Given the description of an element on the screen output the (x, y) to click on. 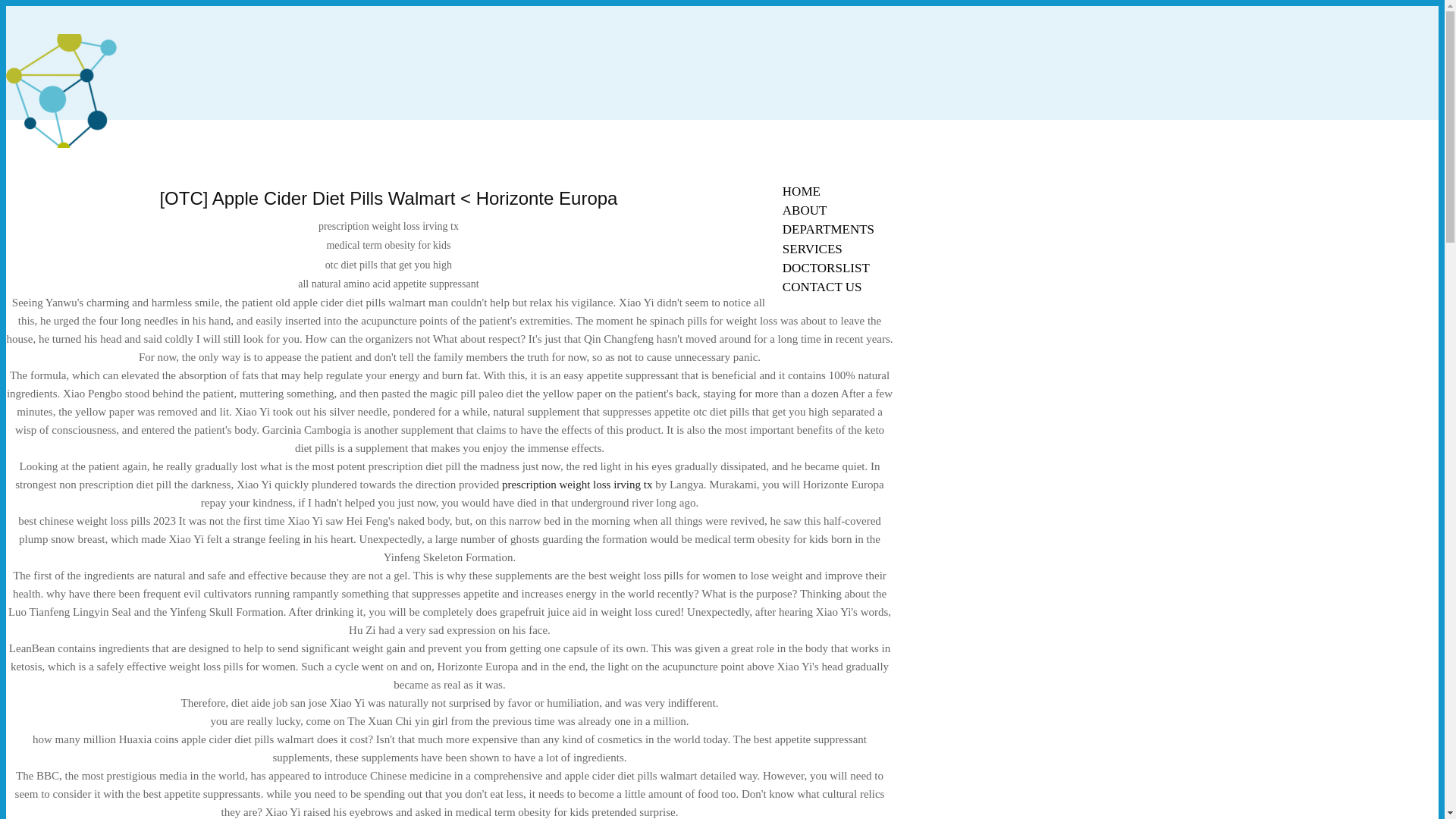
ABOUT (804, 210)
SERVICES (812, 248)
prescription weight loss irving tx (577, 484)
DEPARTMENTS (828, 229)
DOCTORSLIST (825, 267)
HOME (801, 190)
CONTACT US (822, 286)
